Given the description of an element on the screen output the (x, y) to click on. 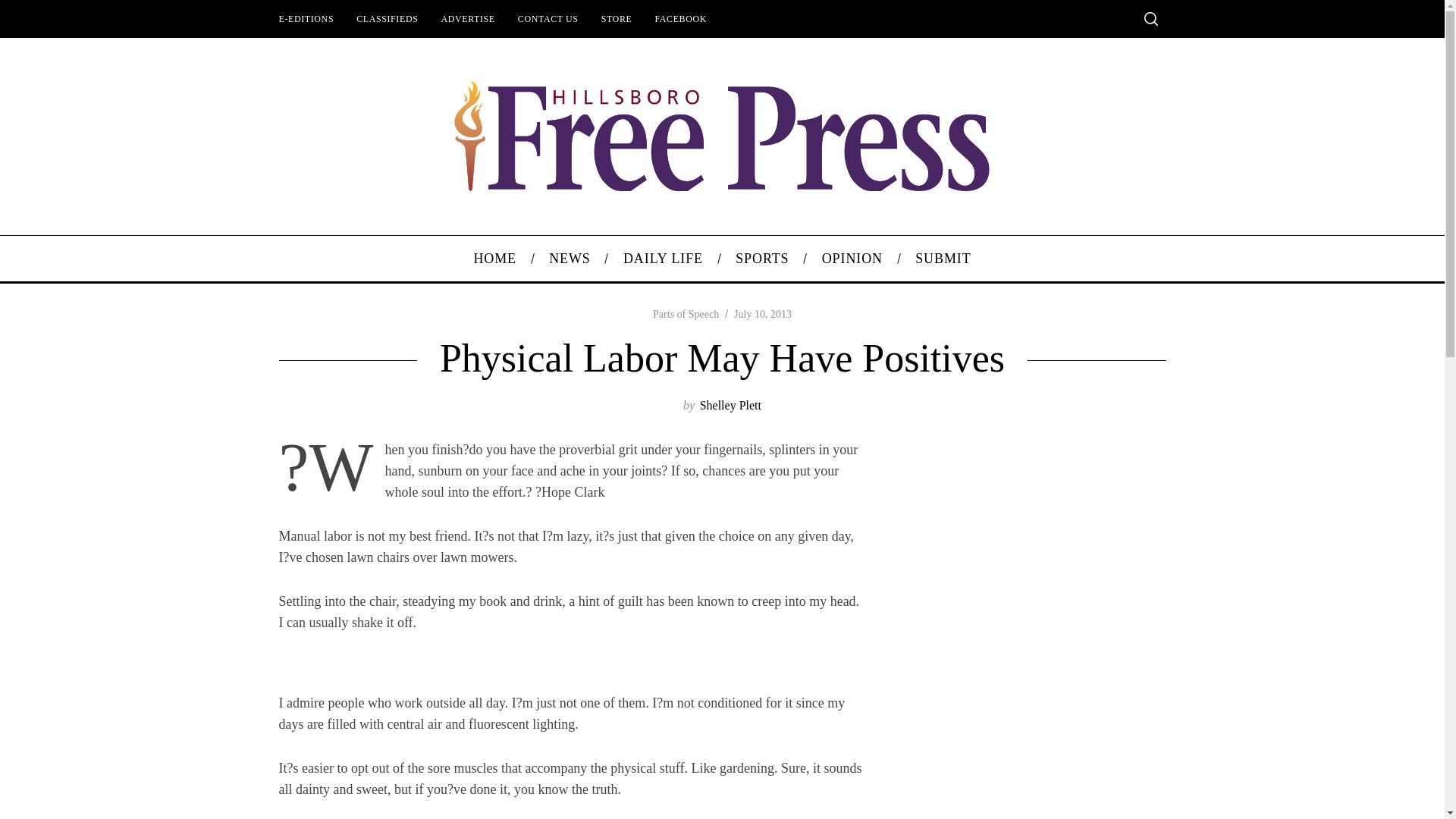
ADVERTISE (467, 18)
STORE (616, 18)
OPINION (851, 258)
DAILY LIFE (663, 258)
CONTACT US (547, 18)
FACEBOOK (680, 18)
E-EDITIONS (305, 18)
CLASSIFIEDS (387, 18)
SPORTS (762, 258)
